Given the description of an element on the screen output the (x, y) to click on. 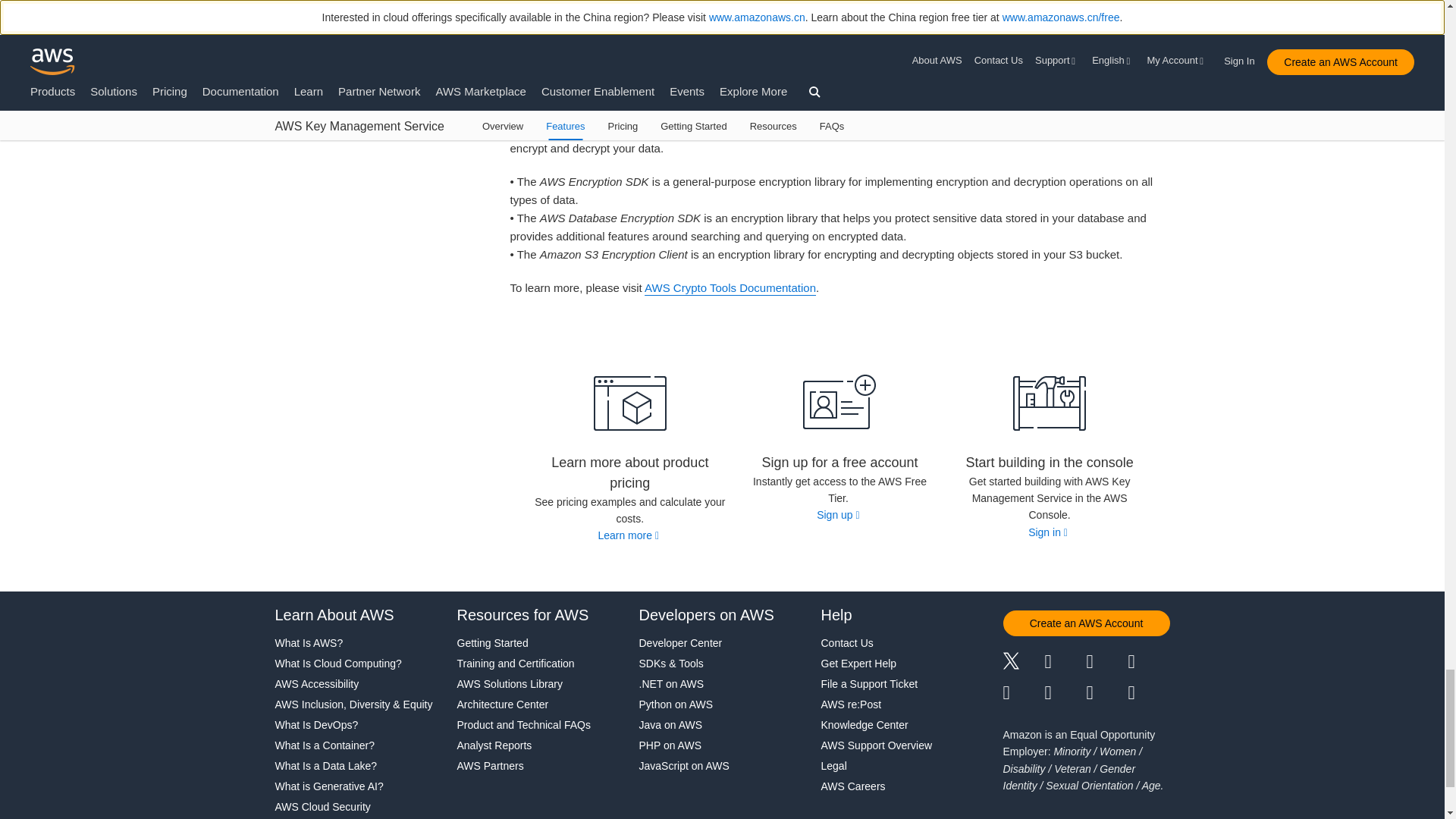
Linkedin (1106, 662)
Facebook (1065, 662)
Instagram (1149, 662)
Twitter (1023, 662)
